Given the description of an element on the screen output the (x, y) to click on. 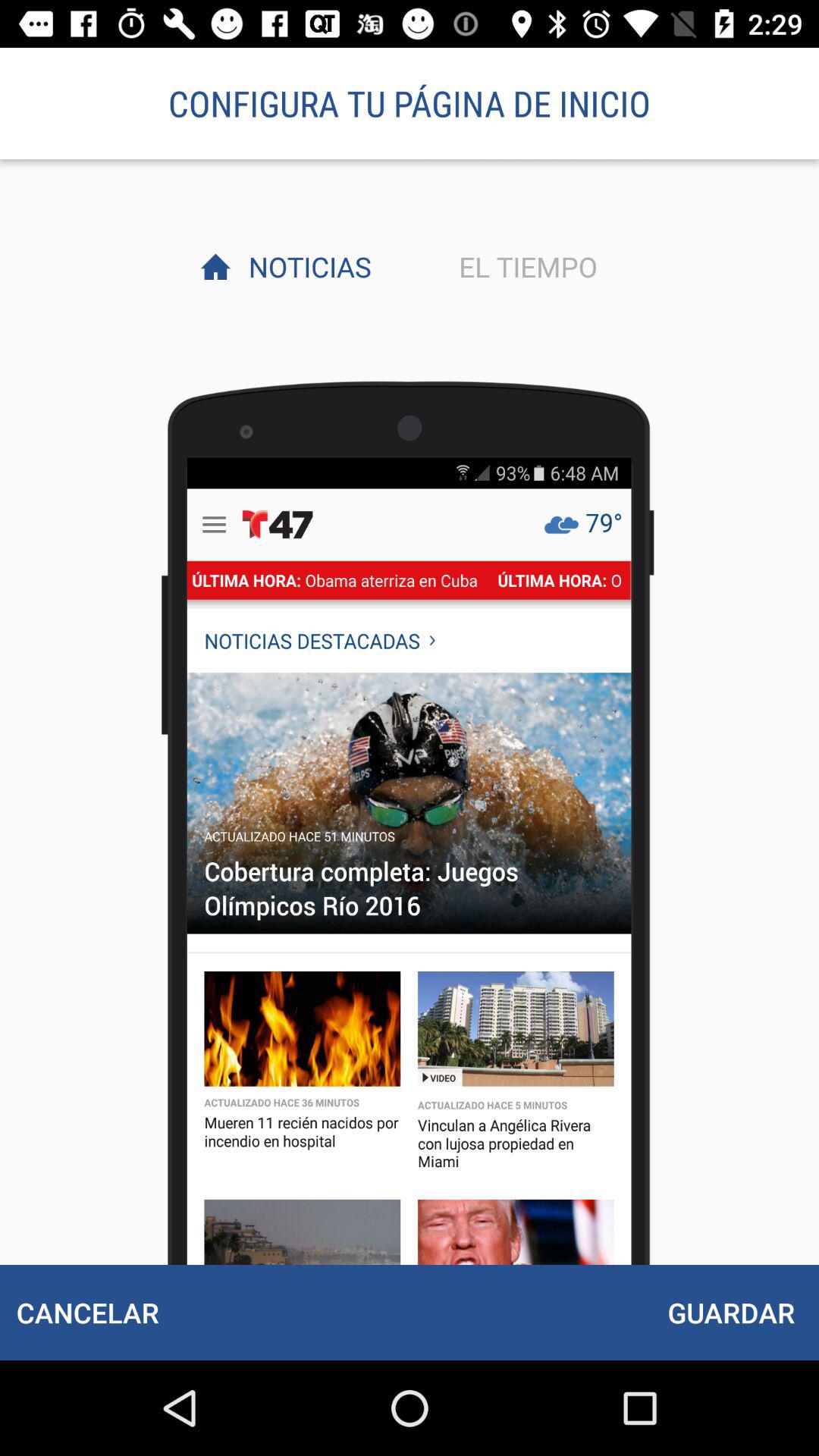
tap the noticias (305, 266)
